Given the description of an element on the screen output the (x, y) to click on. 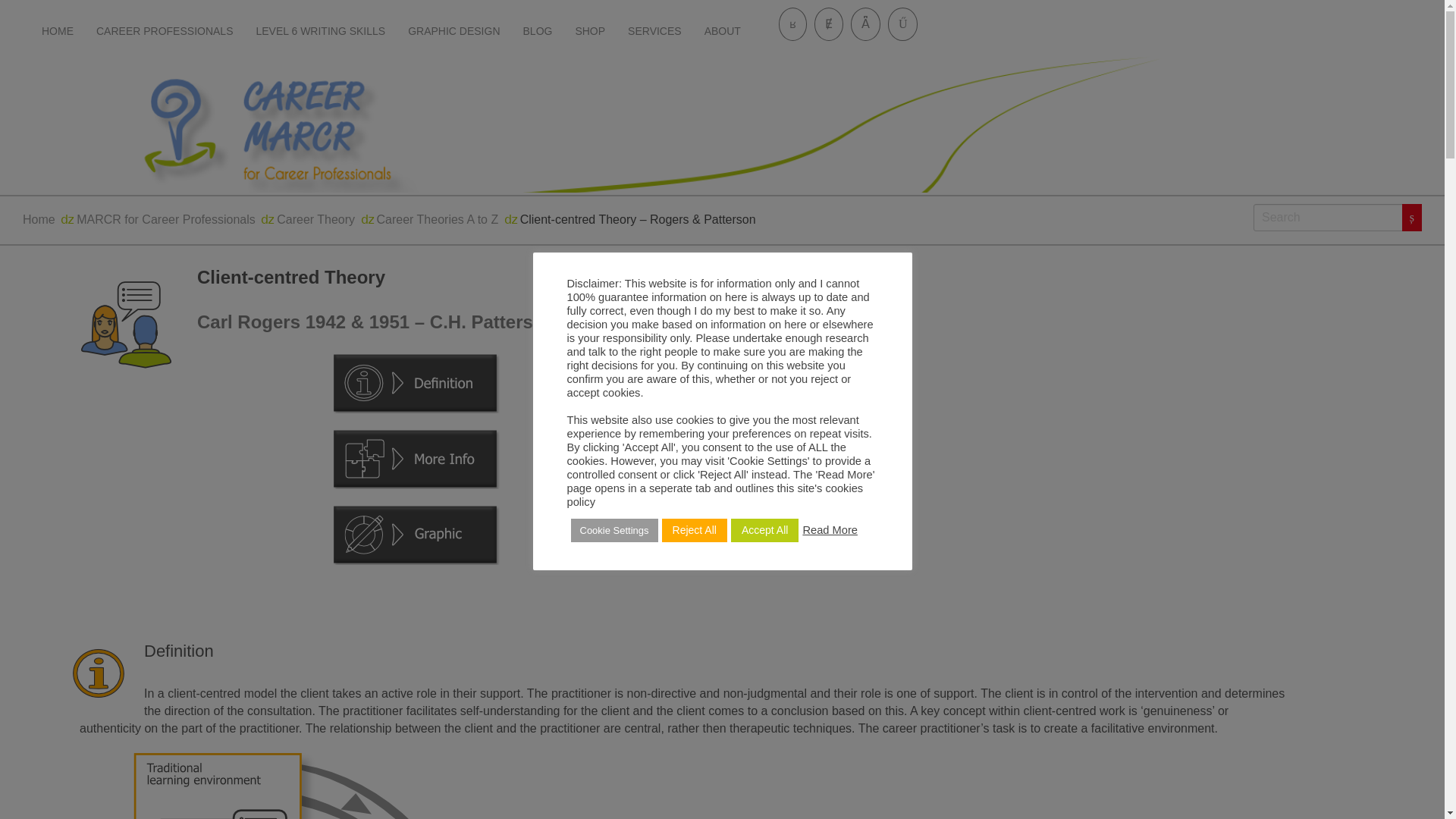
GRAPHIC DESIGN (453, 31)
HOME (57, 31)
ABOUT (722, 31)
LEVEL 6 WRITING SKILLS (320, 31)
Career Theories A to Z (438, 219)
BLOG (538, 31)
Career Theories A to Z (438, 219)
CAREER PROFESSIONALS (164, 31)
Home (39, 219)
MARCR for Career Professionals (166, 219)
SERVICES (654, 31)
MARCR for Career Professionals (166, 219)
Career Theory (315, 219)
